Given the description of an element on the screen output the (x, y) to click on. 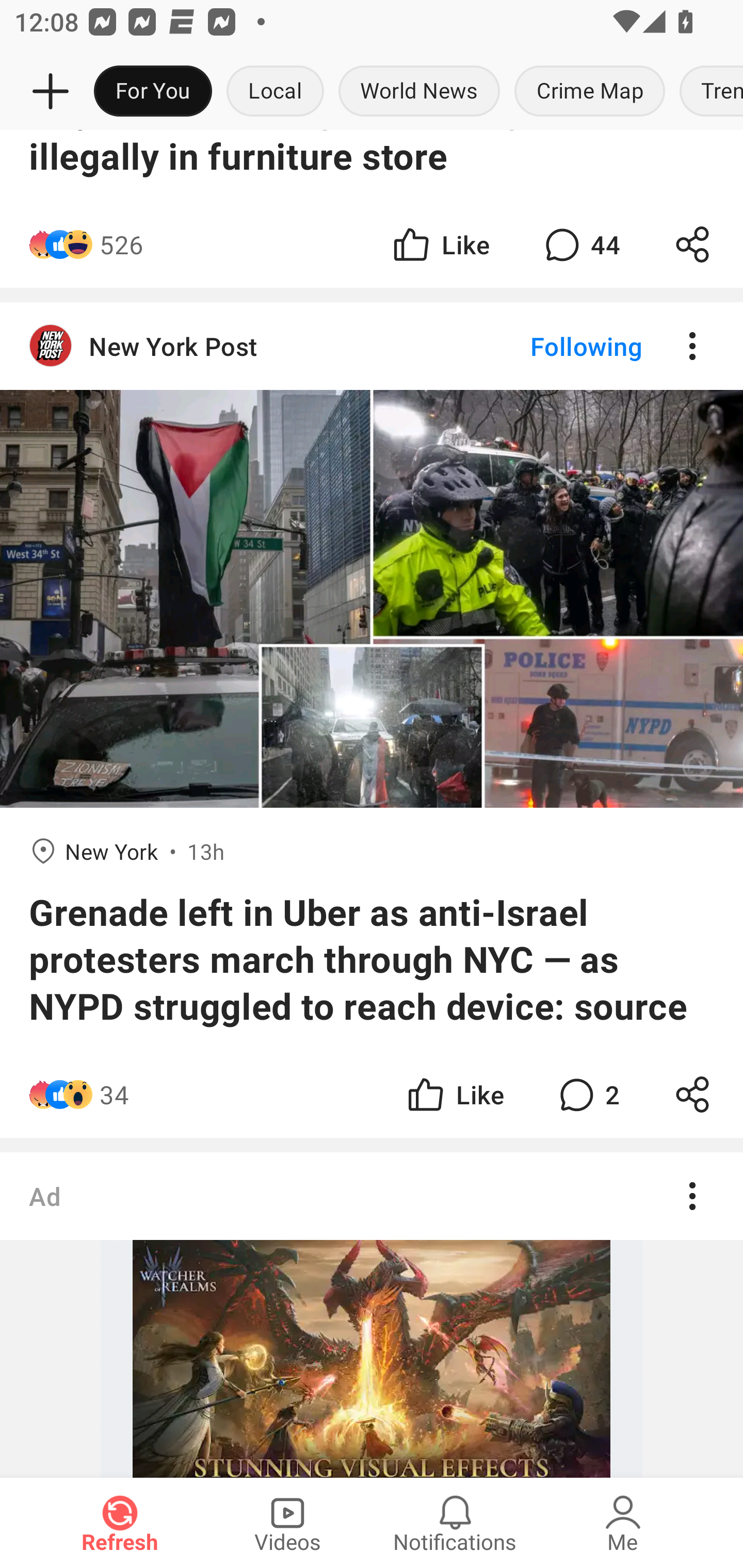
For You (152, 91)
Local (275, 91)
World News (419, 91)
Crime Map (589, 91)
526 (121, 244)
Like (439, 244)
44 (579, 244)
New York Post Following (371, 346)
Following (569, 346)
34 (114, 1094)
Like (454, 1094)
2 (587, 1094)
Videos (287, 1522)
Notifications (455, 1522)
Me (622, 1522)
